Given the description of an element on the screen output the (x, y) to click on. 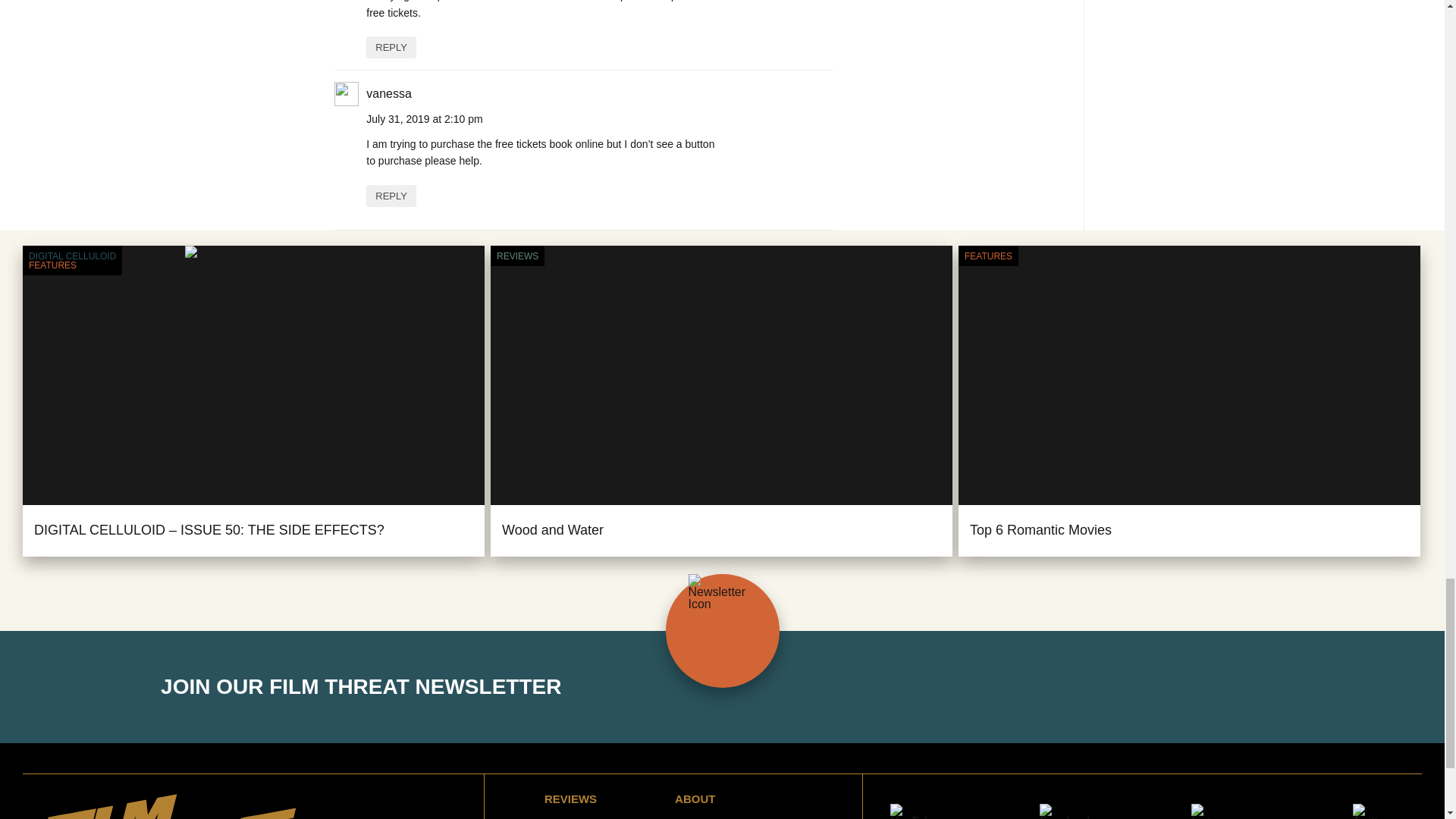
REPLY (391, 47)
Features (72, 265)
July 31, 2019 at 2:10 pm (423, 119)
Reviews (517, 256)
DIGITAL CELLULOID (72, 256)
REPLY (391, 196)
Features (987, 256)
FEATURES (72, 265)
Digital Celluloid (72, 256)
